Given the description of an element on the screen output the (x, y) to click on. 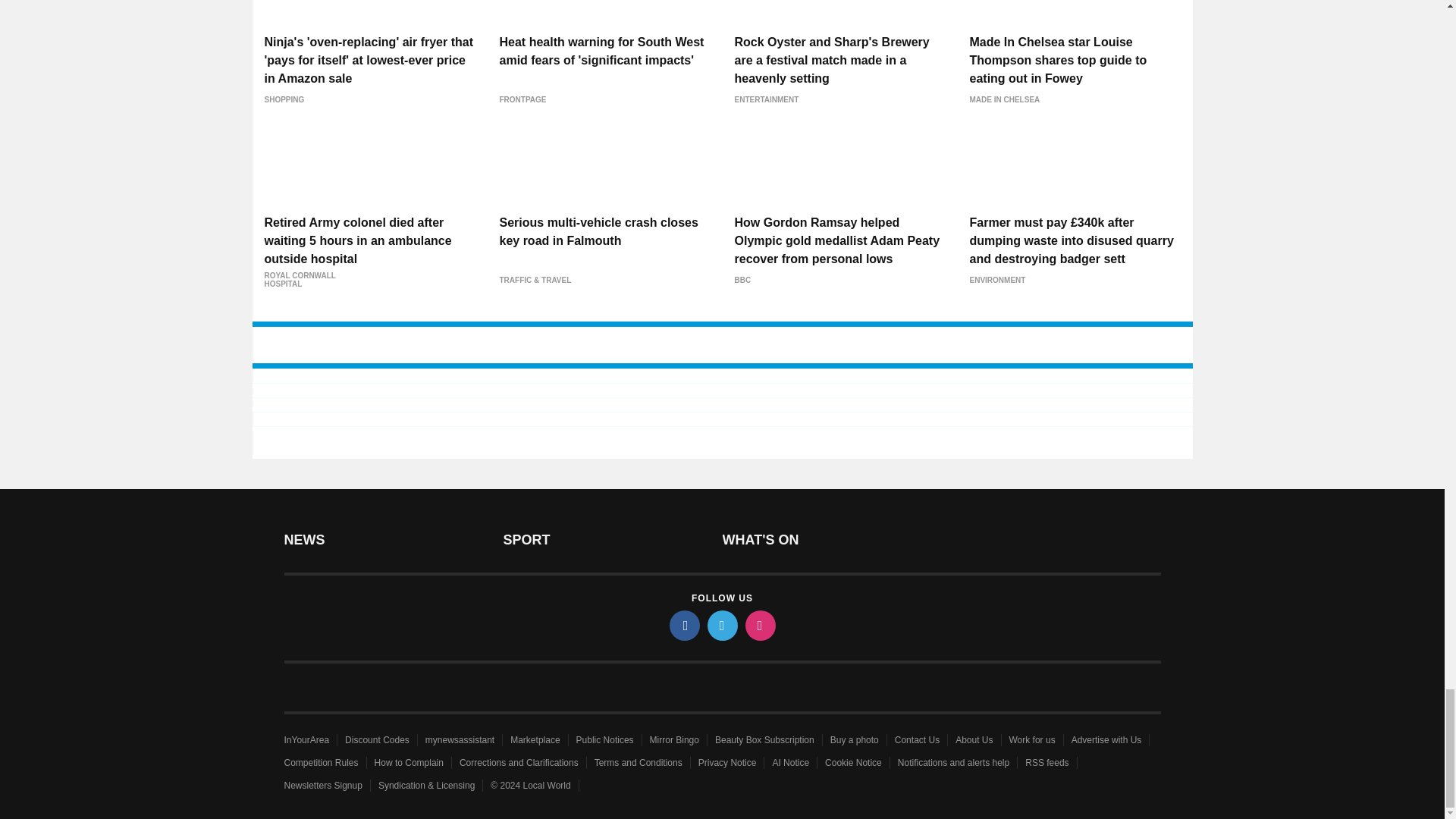
facebook (683, 625)
twitter (721, 625)
instagram (759, 625)
